Given the description of an element on the screen output the (x, y) to click on. 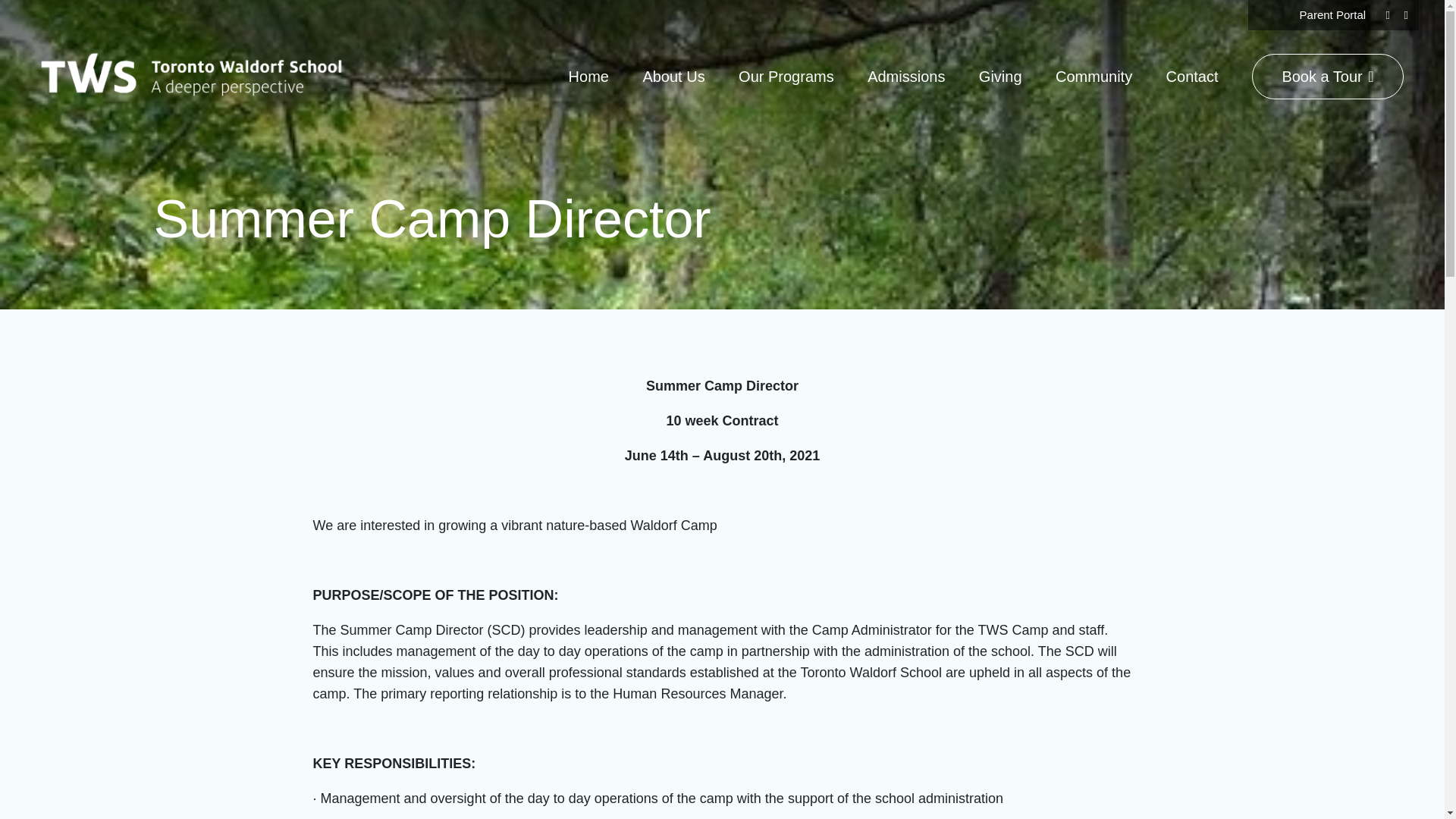
Home (588, 76)
Parent Portal (1333, 14)
About Us (673, 76)
Parent Portal (1333, 14)
Our Programs (786, 76)
Home Page Link (191, 75)
